Given the description of an element on the screen output the (x, y) to click on. 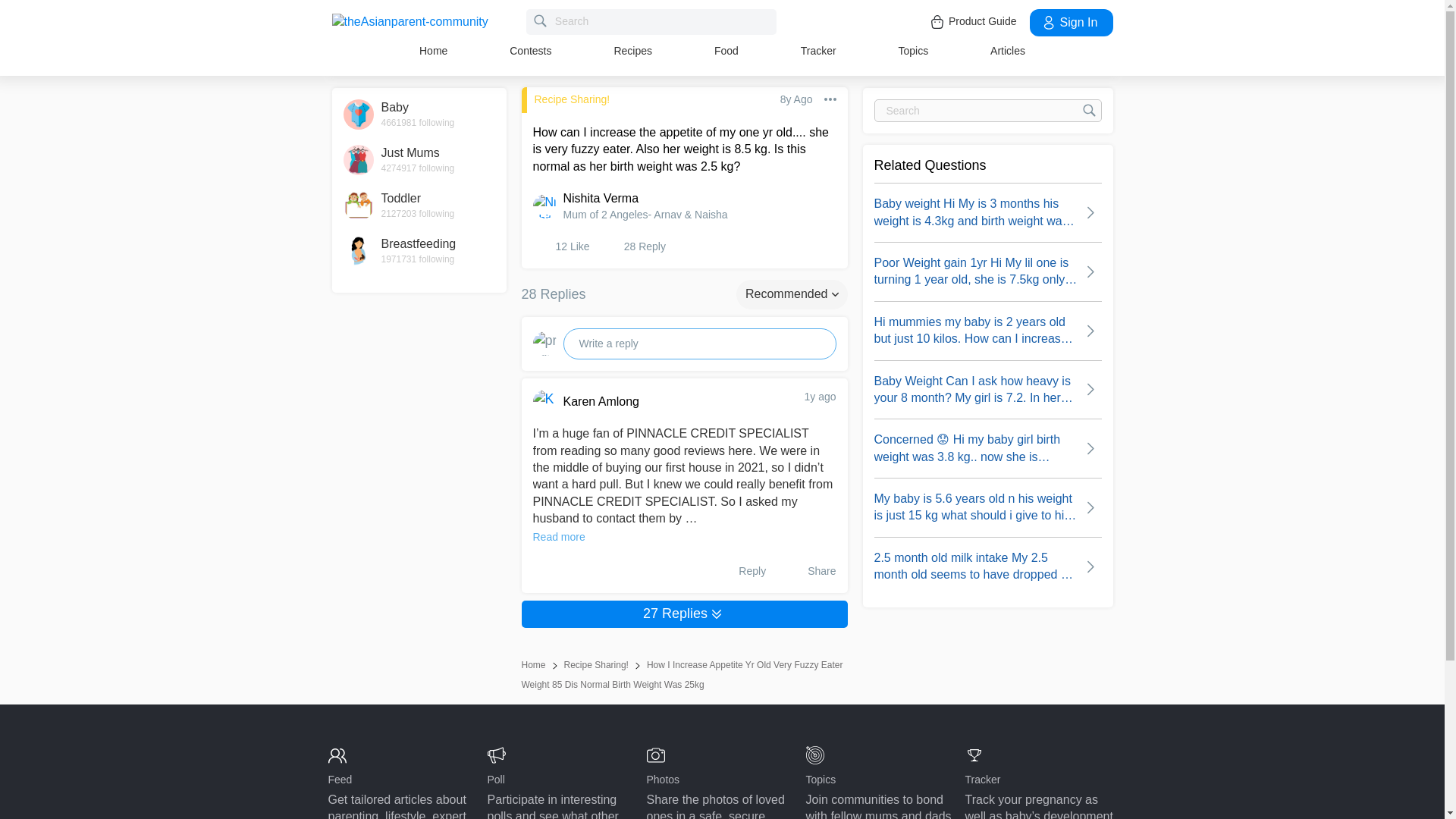
Contests (530, 50)
Karen Amlong (667, 401)
Articles (418, 205)
query (1007, 50)
Tracker (418, 250)
Sign In (650, 22)
